Given the description of an element on the screen output the (x, y) to click on. 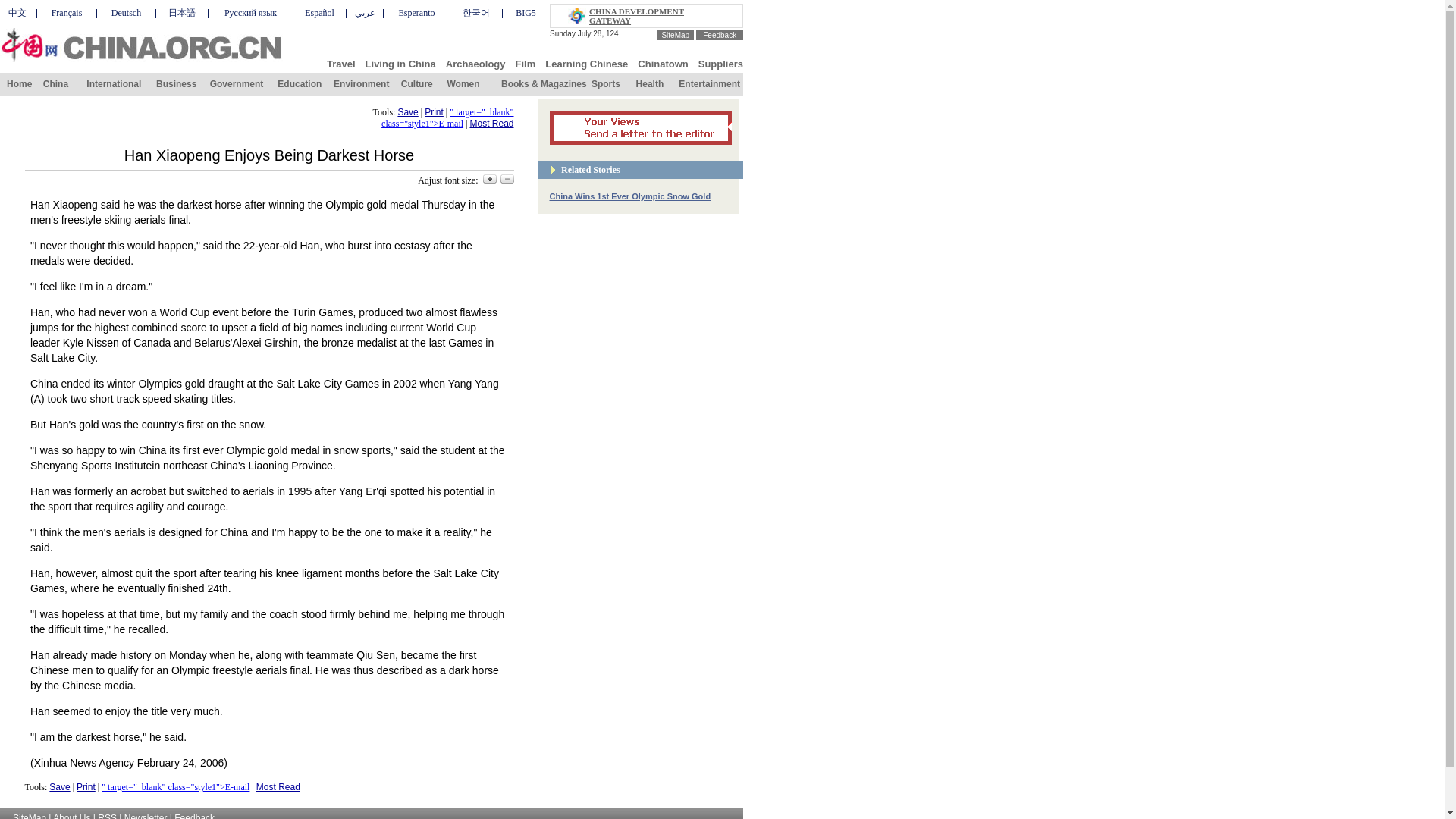
Business (175, 83)
Environment (360, 83)
Esperanto (416, 12)
China (55, 83)
SiteMap (674, 34)
Chinatown (662, 62)
Deutsch (126, 12)
Home (19, 83)
Most Read (490, 122)
Women (462, 83)
Save (59, 787)
Government (236, 83)
Travel (340, 62)
International (113, 83)
Print (434, 112)
